Given the description of an element on the screen output the (x, y) to click on. 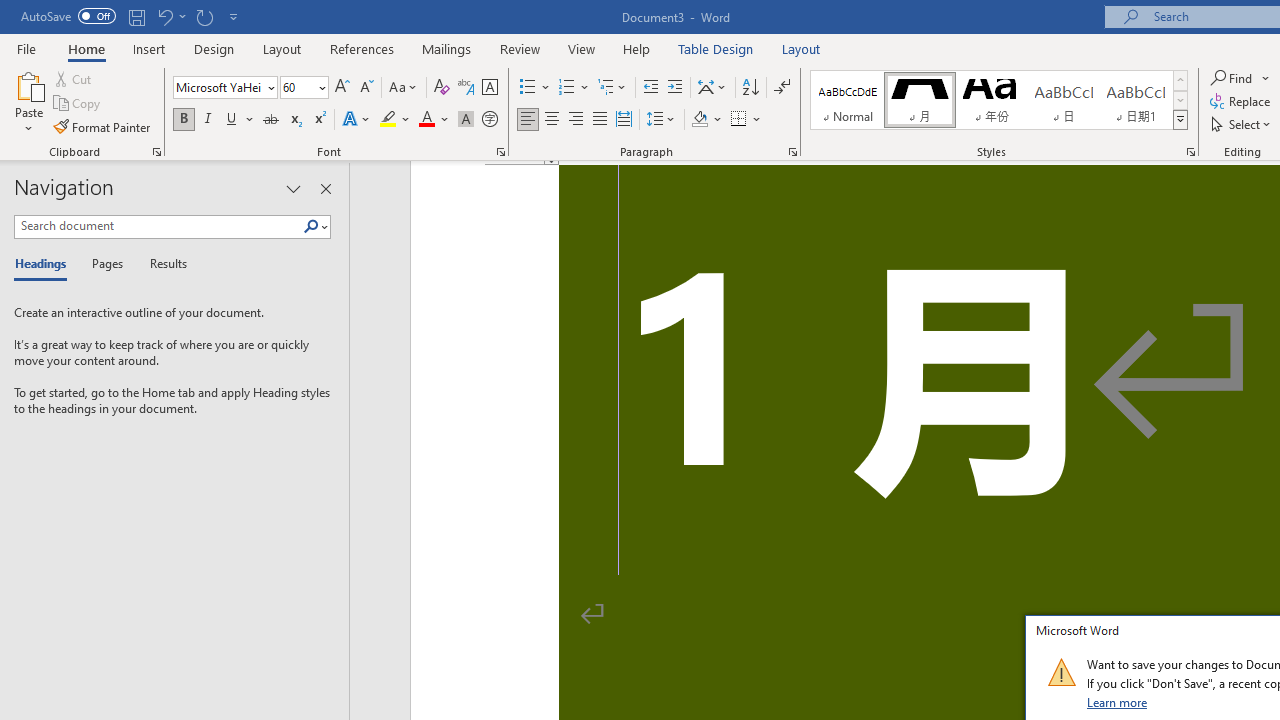
AutomationID: QuickStylesGallery (999, 99)
Repeat Increase Indent (204, 15)
